Given the description of an element on the screen output the (x, y) to click on. 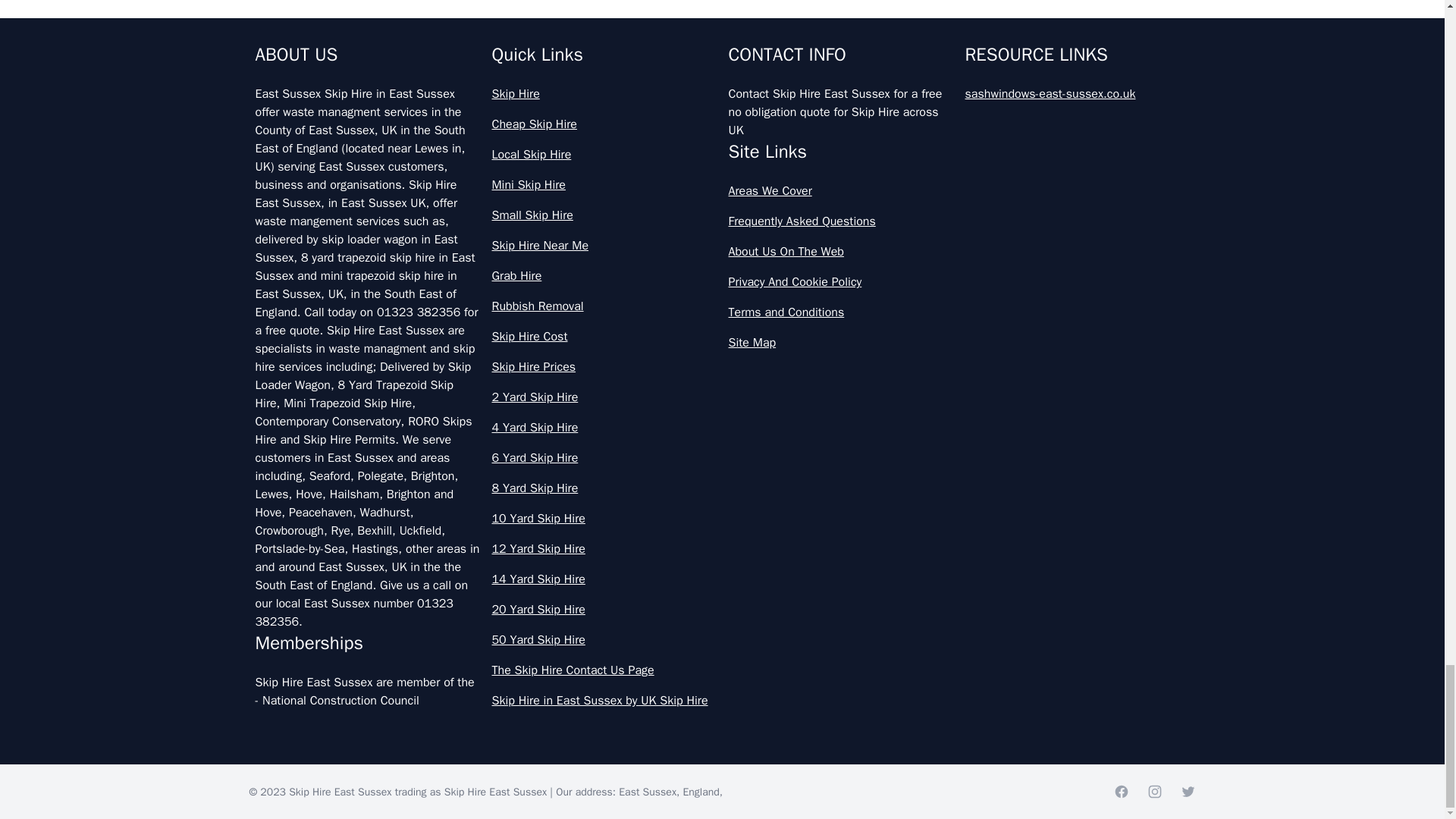
Skip Hire in East Sussex by UK Skip Hire (604, 700)
Site Map (840, 342)
sashwindows-east-sussex.co.uk (1076, 94)
